Given the description of an element on the screen output the (x, y) to click on. 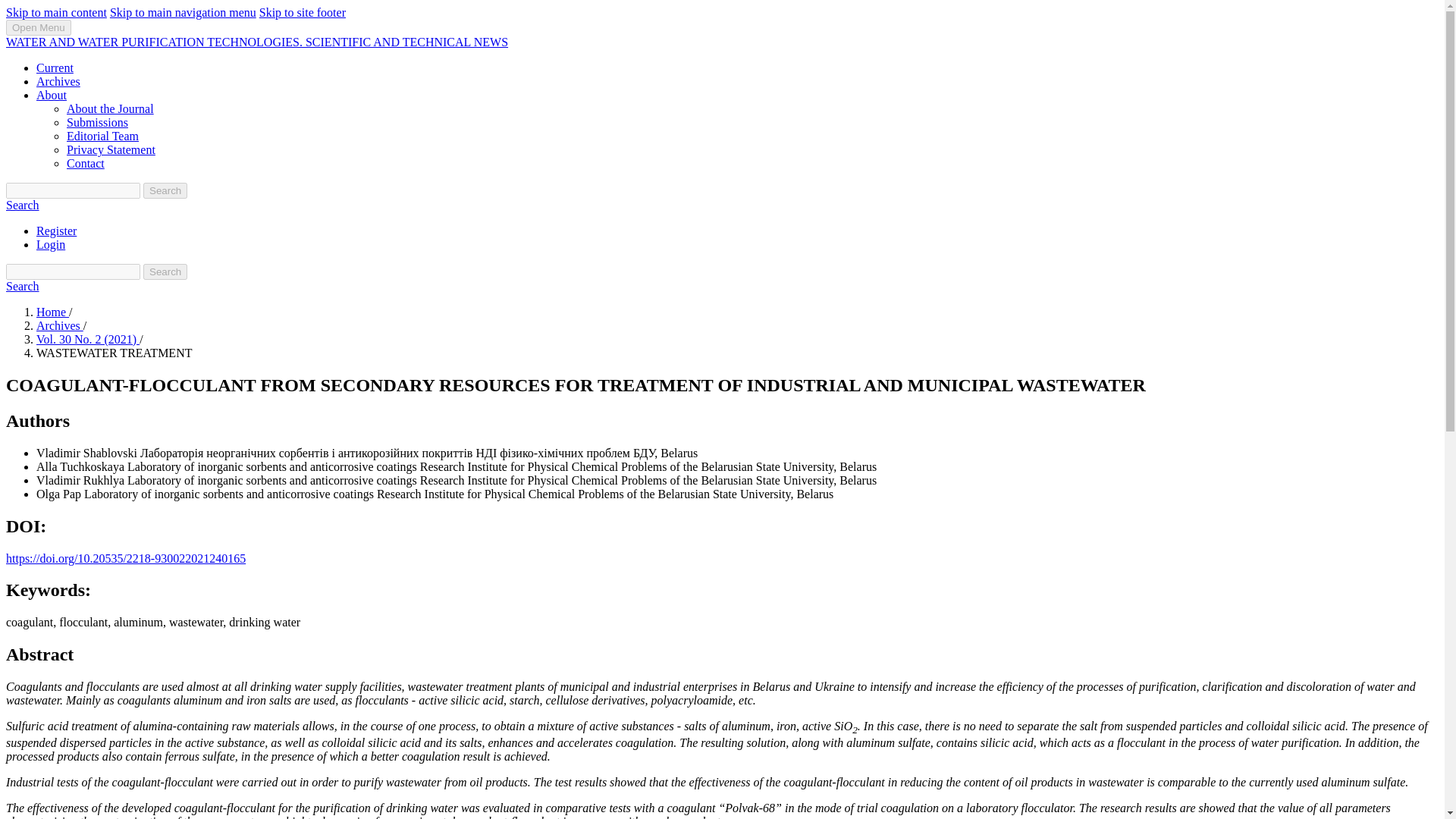
Current (55, 67)
Skip to site footer (302, 11)
About the Journal (110, 108)
Login (50, 244)
Home (52, 311)
Archives (59, 325)
Register (56, 230)
Search (164, 271)
Privacy Statement (110, 149)
